Given the description of an element on the screen output the (x, y) to click on. 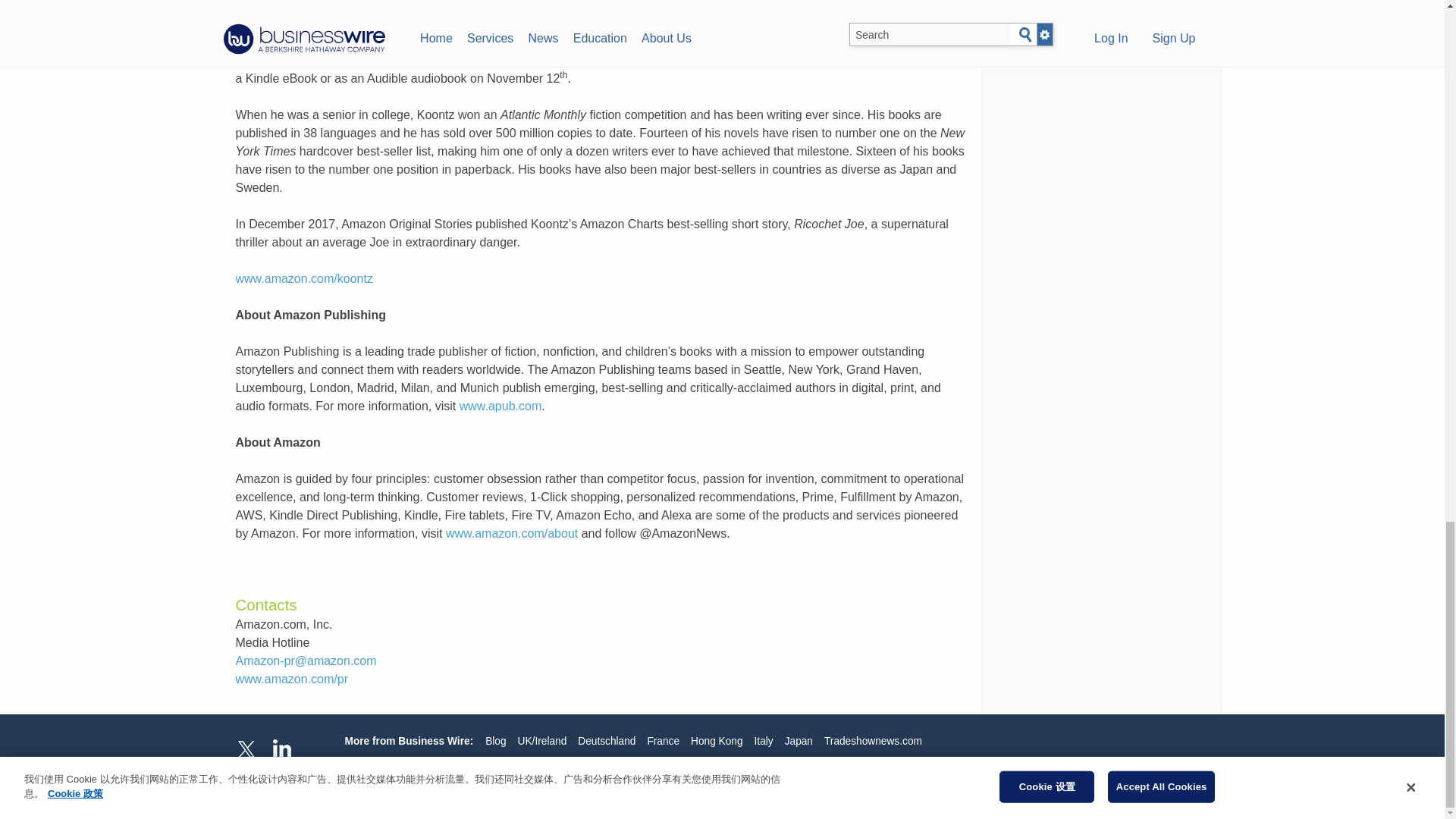
www.apub.com (500, 405)
